Given the description of an element on the screen output the (x, y) to click on. 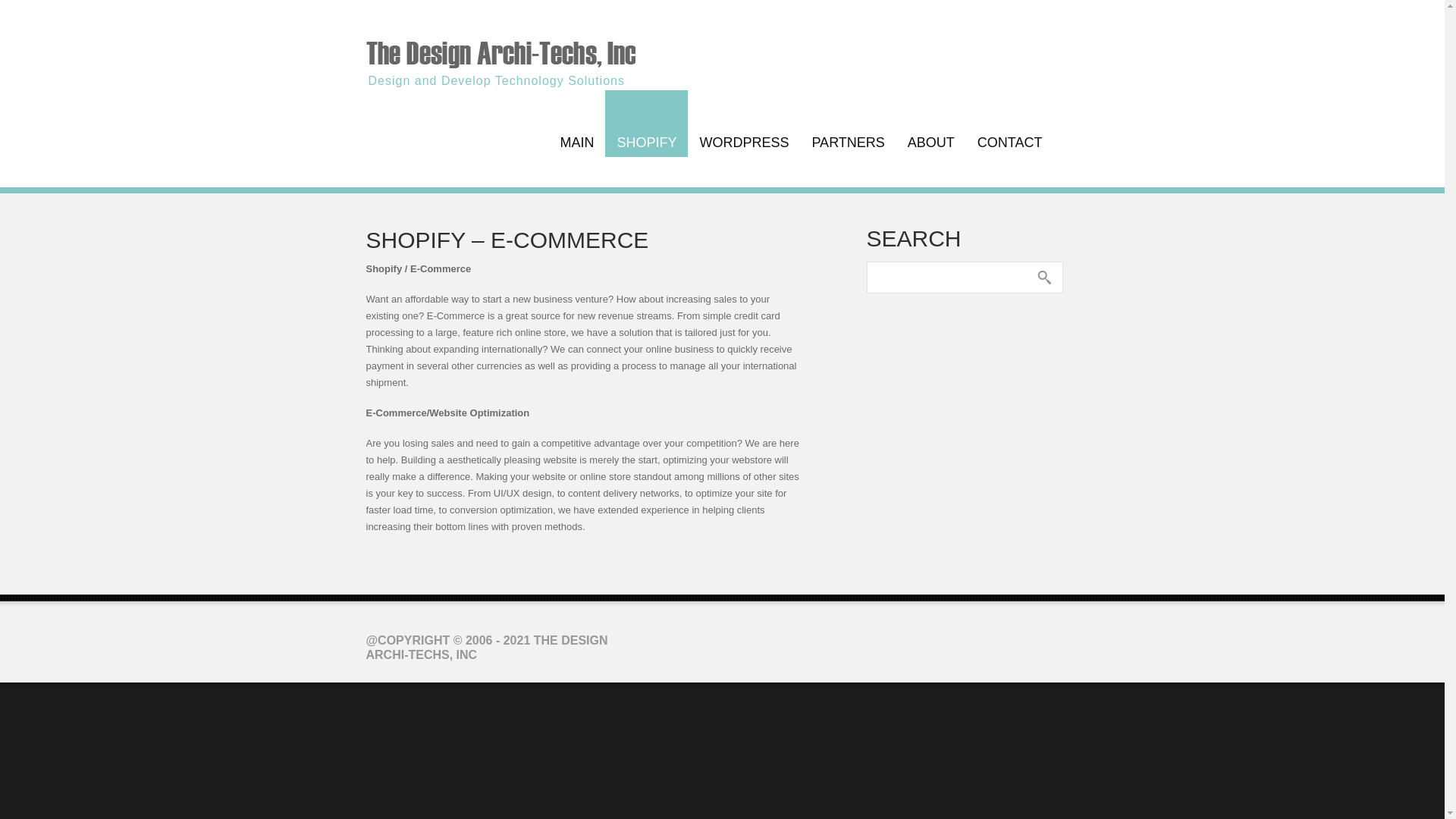
Search (1043, 278)
Search (1043, 278)
SHOPIFY (646, 123)
WORDPRESS (743, 123)
CONTACT (1010, 123)
Design and Develop Technology Solutions (499, 49)
PARTNERS (847, 123)
ABOUT (931, 123)
